Given the description of an element on the screen output the (x, y) to click on. 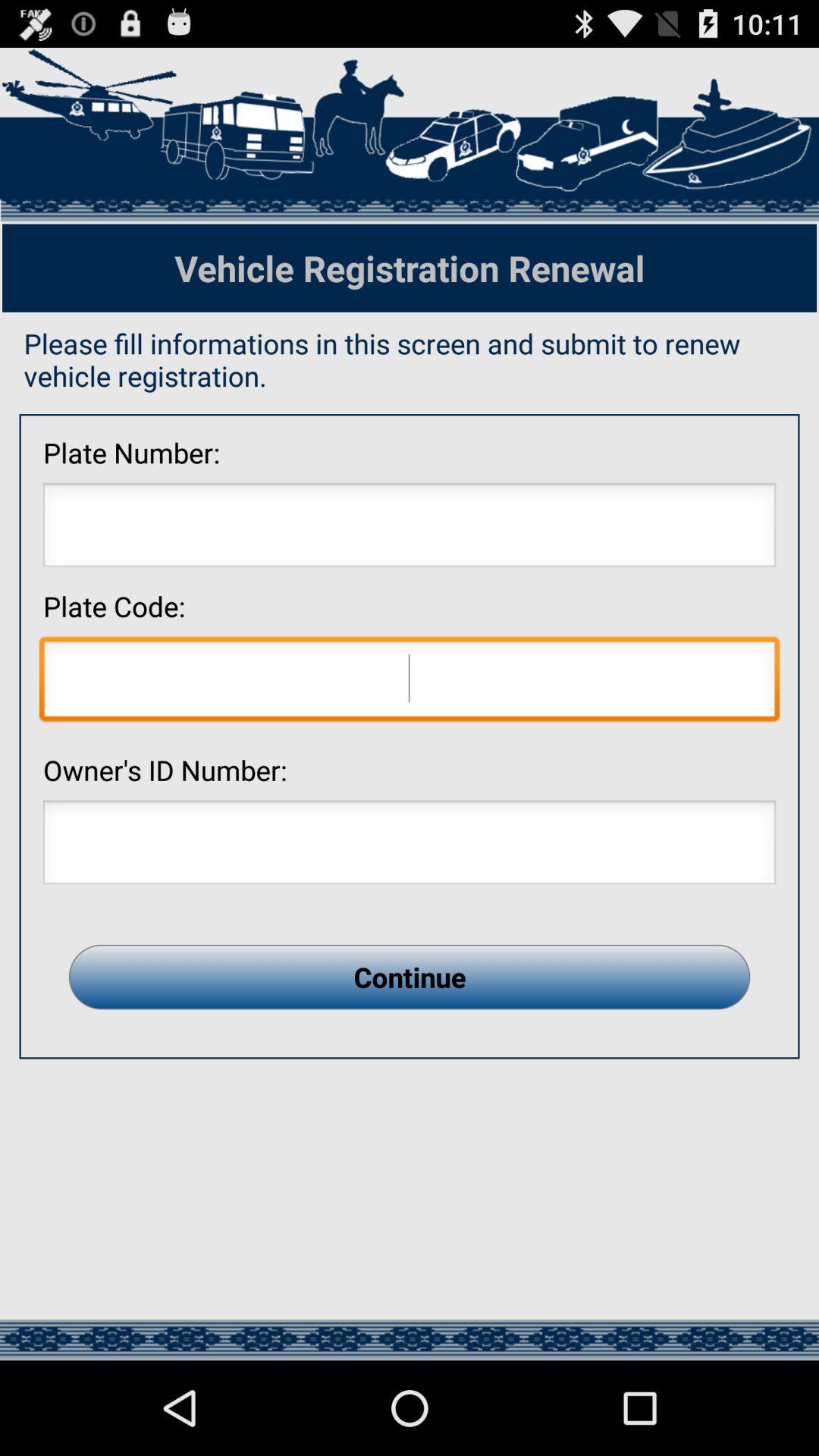
open continue button (409, 976)
